Given the description of an element on the screen output the (x, y) to click on. 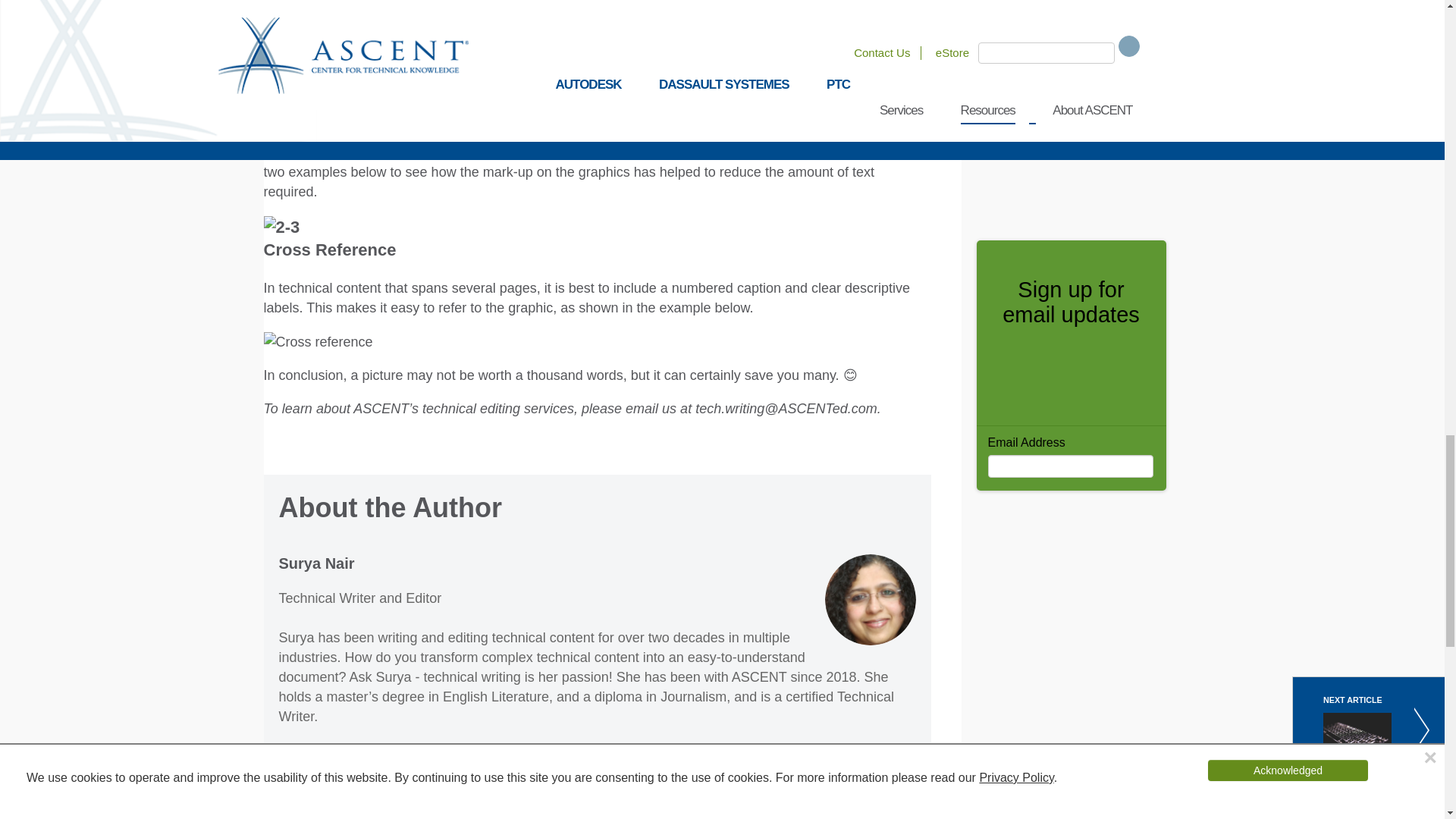
2-3 (281, 227)
3-1 (279, 66)
Cross reference (317, 342)
